Given the description of an element on the screen output the (x, y) to click on. 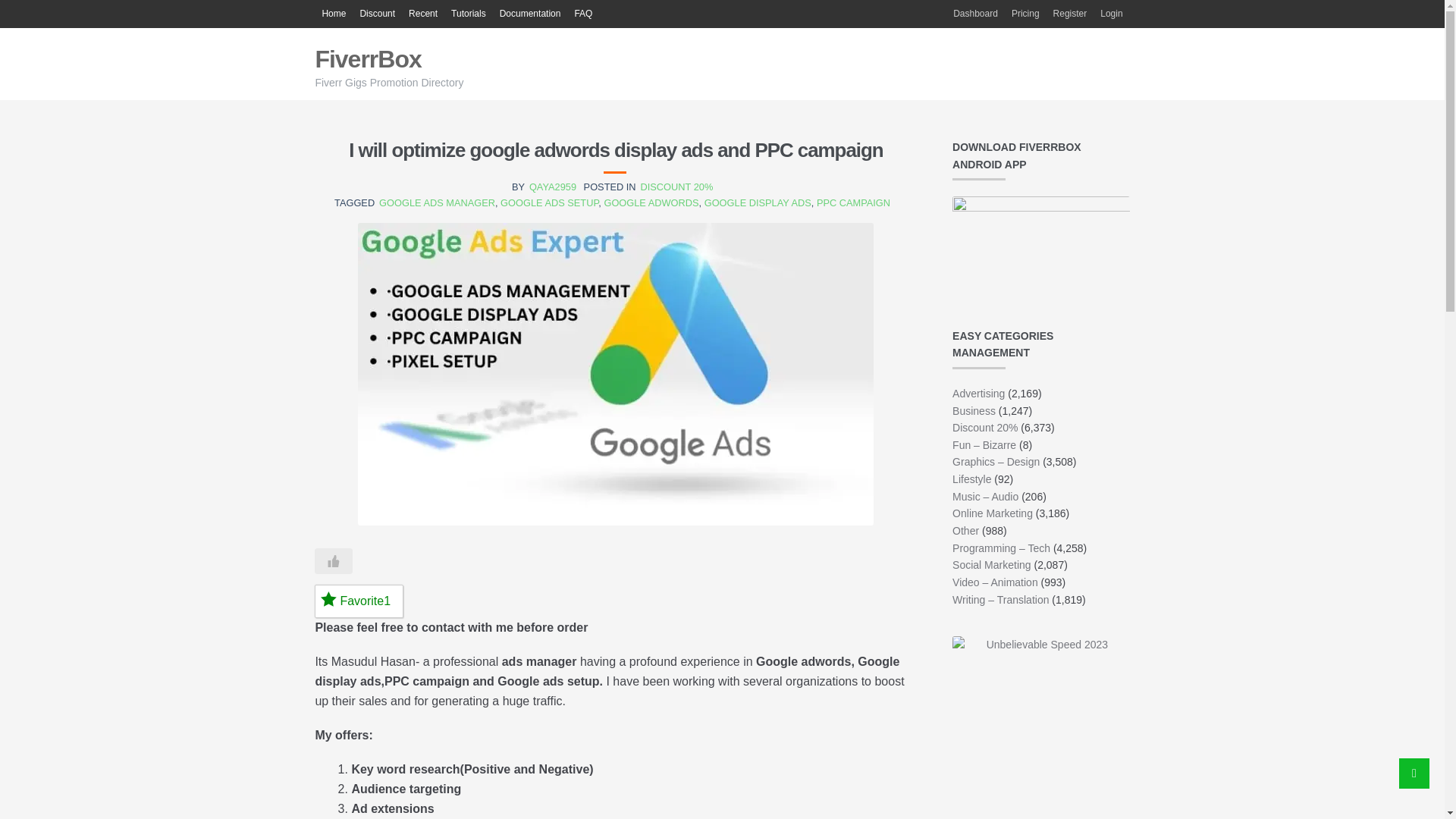
GOOGLE ADS MANAGER (436, 202)
Directory (333, 13)
Dashboard (975, 13)
GOOGLE DISPLAY ADS (757, 202)
Posts by qaya2959 (552, 186)
GOOGLE ADS SETUP (549, 202)
Register (1070, 13)
GOOGLE ADWORDS (651, 202)
Unbelievable Speed 2023 (1040, 725)
Home (333, 13)
Documentation (530, 13)
Recent (422, 13)
Discount (376, 13)
FiverrBox (367, 58)
Pricing (1025, 13)
